Given the description of an element on the screen output the (x, y) to click on. 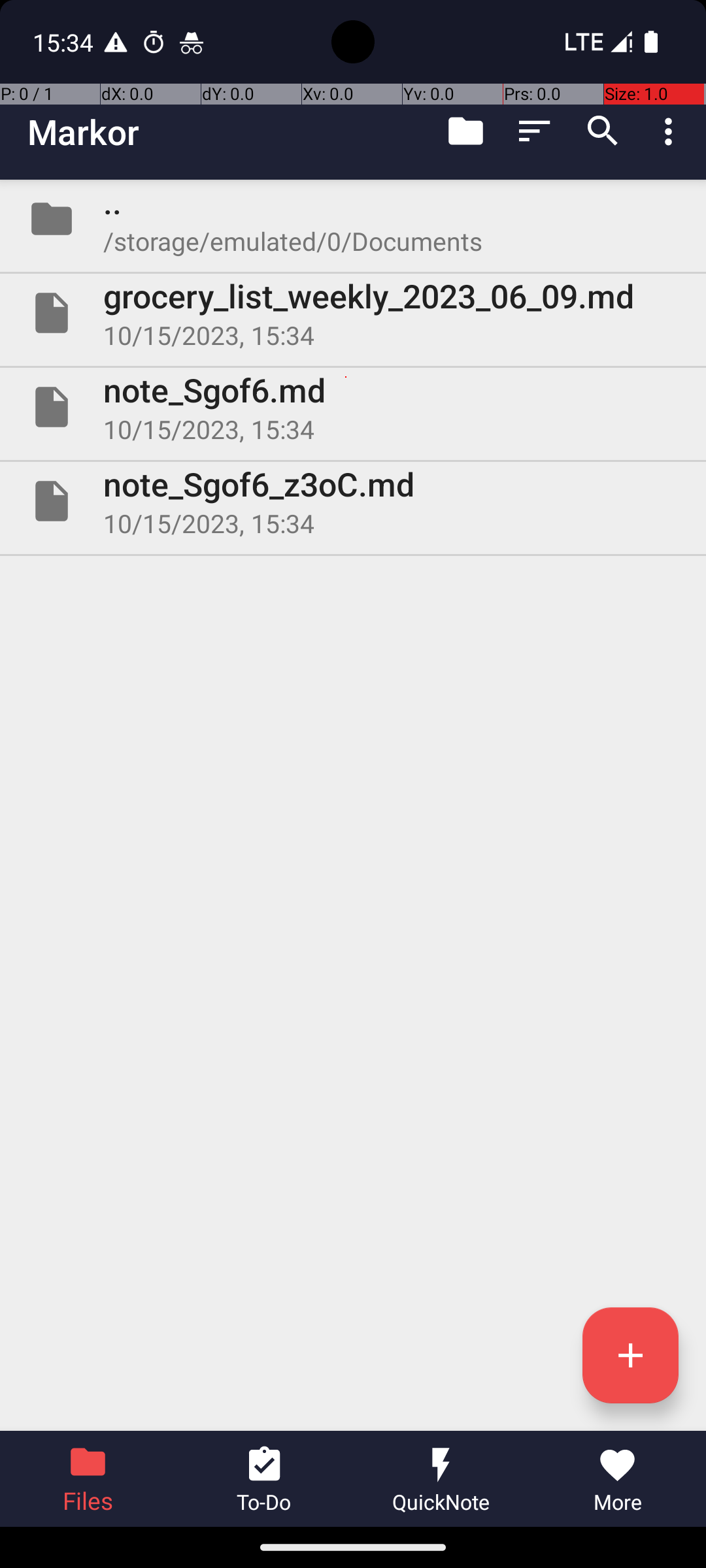
File grocery_list_weekly_2023_06_09.md  Element type: android.widget.LinearLayout (353, 312)
File note_Sgof6.md  Element type: android.widget.LinearLayout (353, 406)
File note_Sgof6_z3oC.md  Element type: android.widget.LinearLayout (353, 500)
Chrome notification: Incognito Tabs Element type: android.widget.ImageView (191, 41)
